Given the description of an element on the screen output the (x, y) to click on. 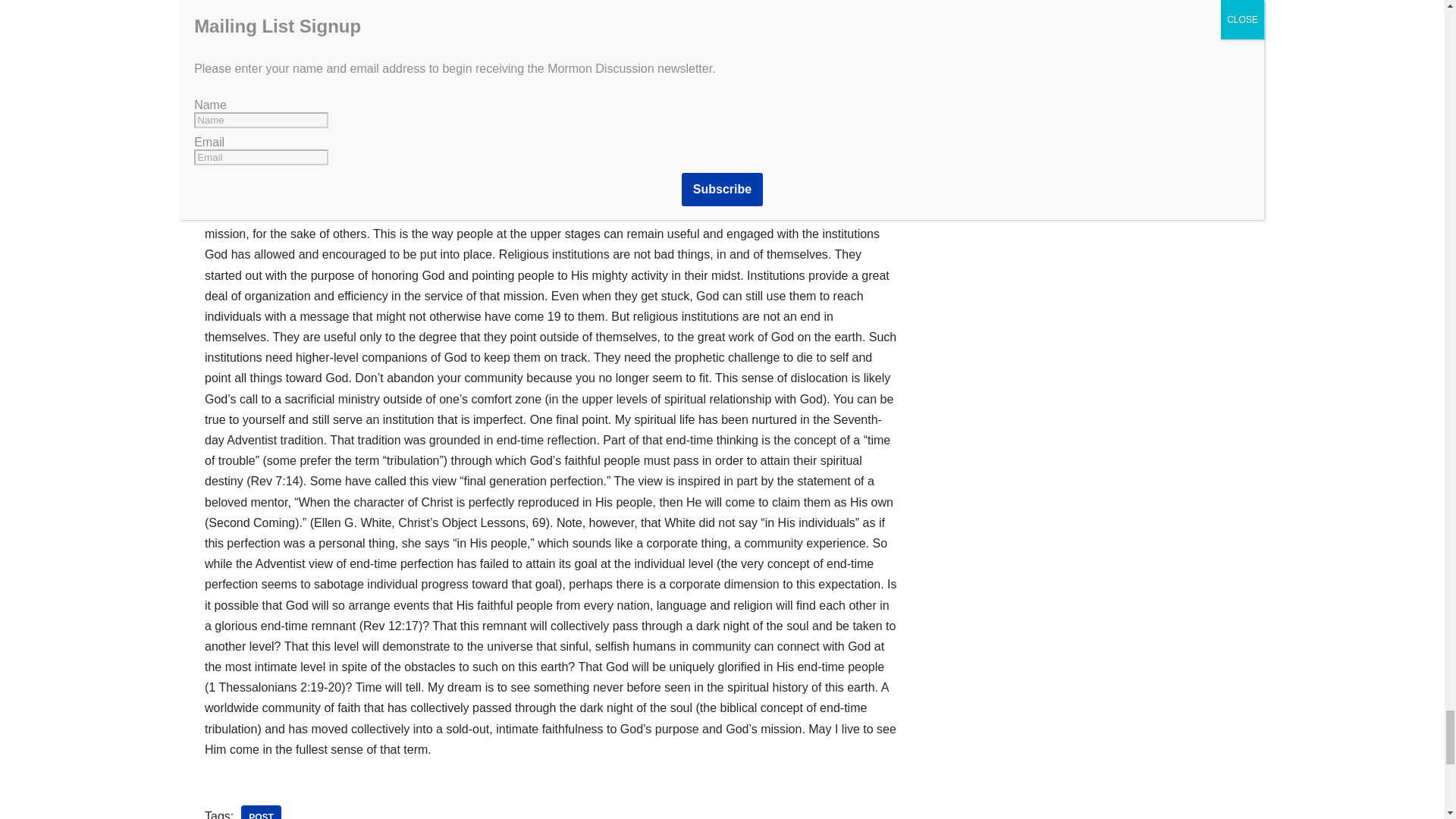
POST (261, 812)
Post (261, 812)
